Given the description of an element on the screen output the (x, y) to click on. 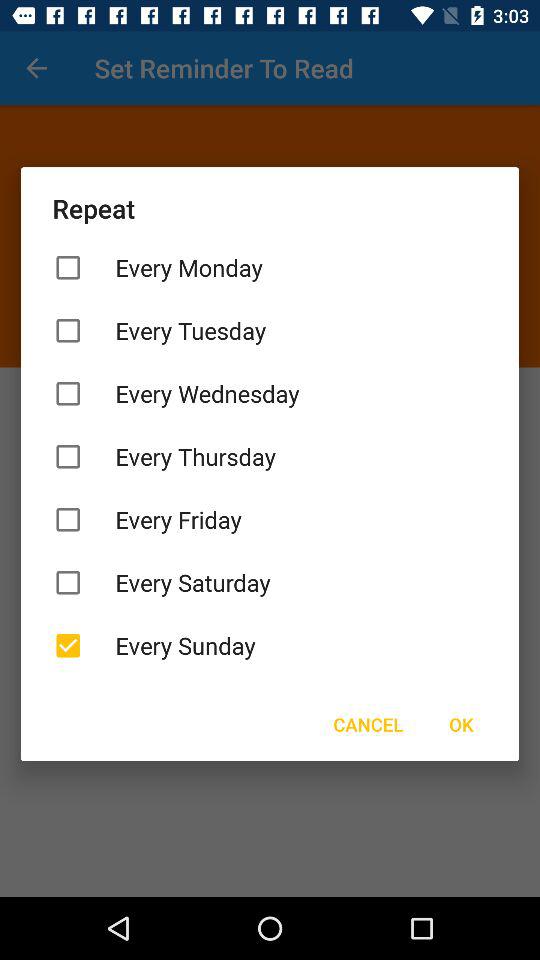
flip to the every saturday item (270, 582)
